Given the description of an element on the screen output the (x, y) to click on. 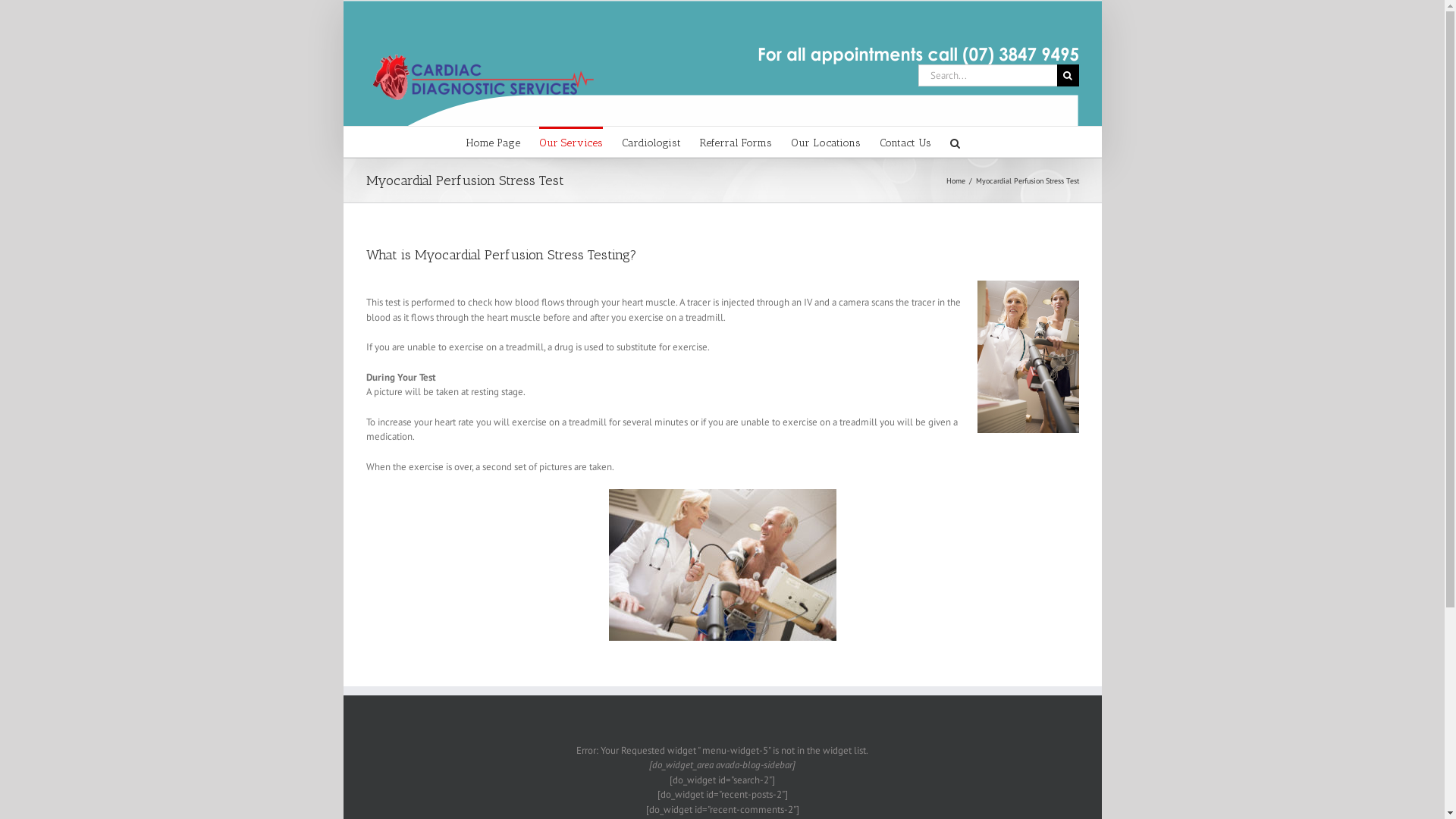
Referral Forms Element type: text (735, 141)
Home Element type: text (955, 180)
Cardiologist Element type: text (650, 141)
Our Locations Element type: text (824, 141)
Our Services Element type: text (570, 141)
Search Element type: hover (954, 141)
Home Page Element type: text (492, 141)
Contact Us Element type: text (905, 141)
